Given the description of an element on the screen output the (x, y) to click on. 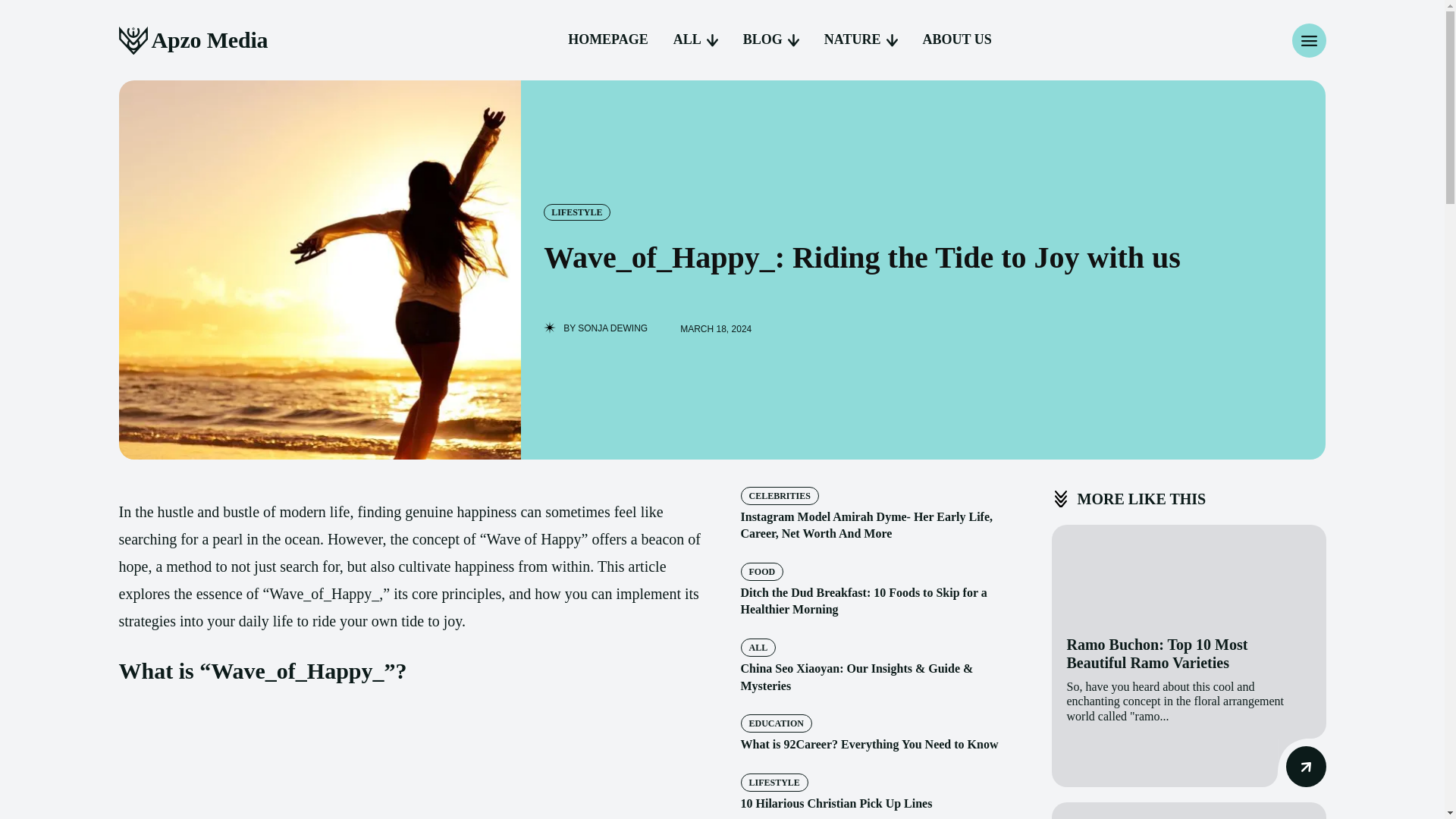
ALL (695, 39)
Apzo Media (192, 40)
HOMEPAGE (608, 39)
Apzo Media (192, 40)
